Given the description of an element on the screen output the (x, y) to click on. 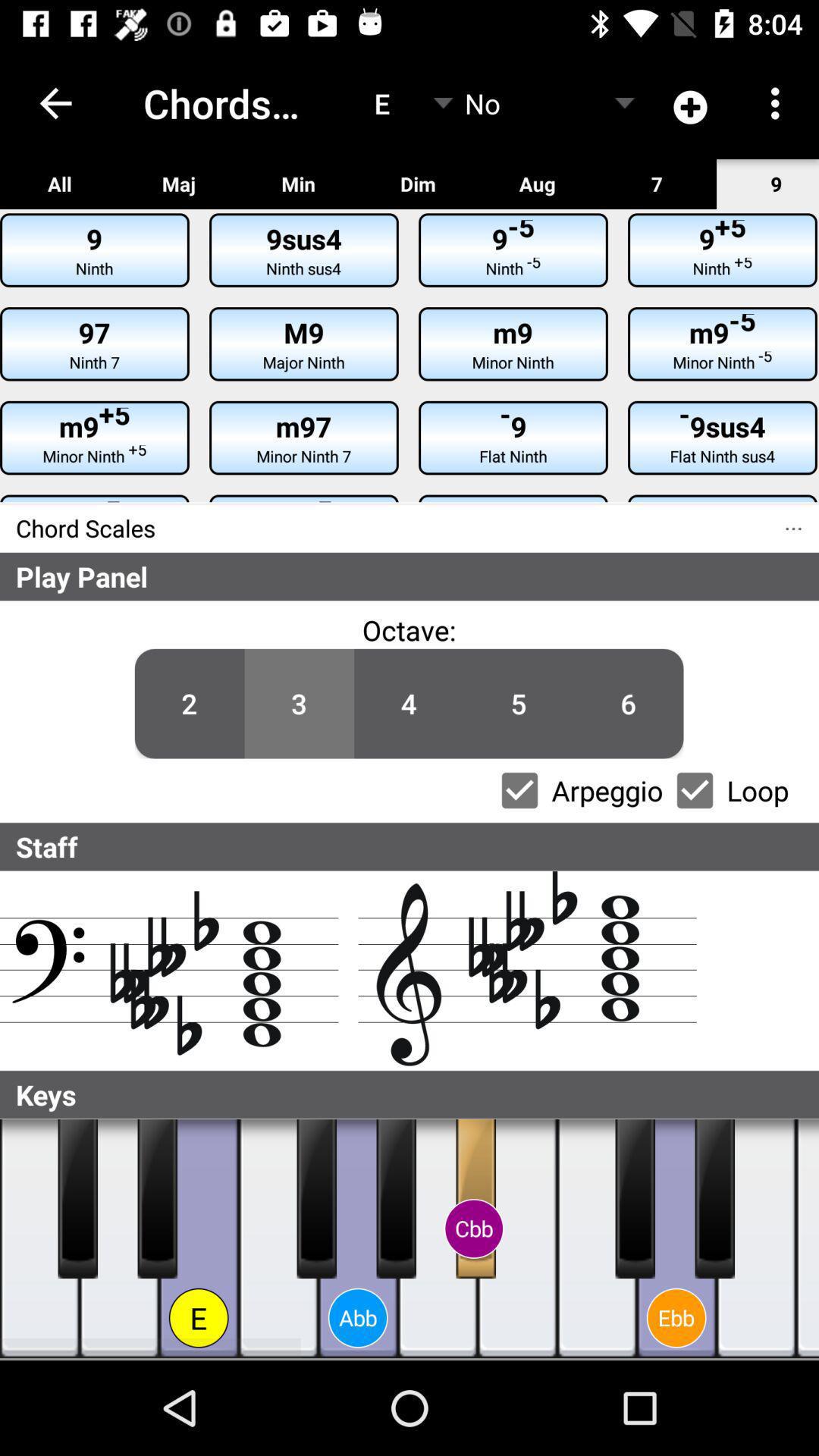
black piano key (157, 1198)
